Given the description of an element on the screen output the (x, y) to click on. 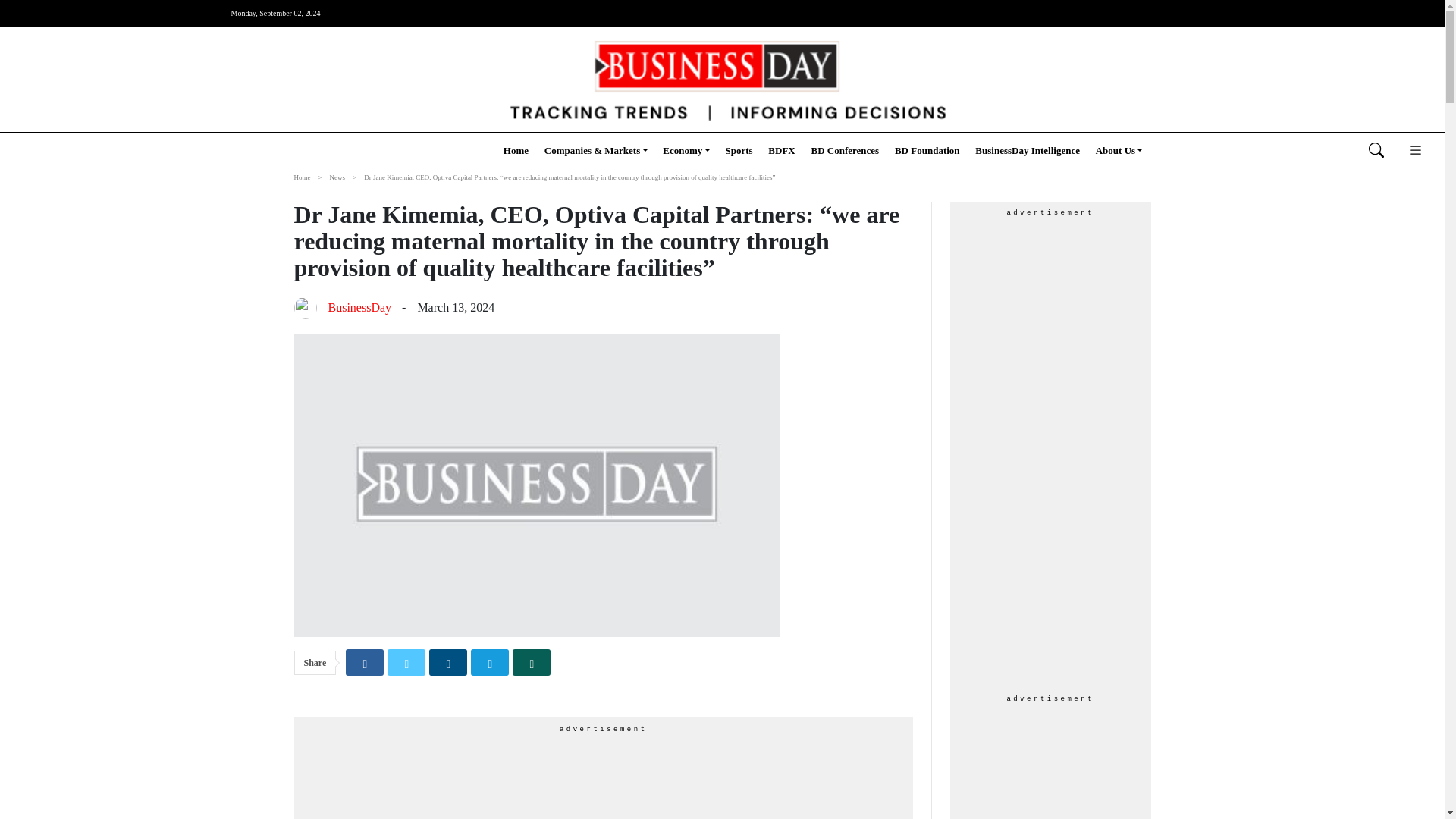
BD Foundation (927, 149)
BusinessDay Intelligence (1027, 149)
BD Conferences (844, 149)
Economy (685, 149)
BusinessDay Intelligence (1027, 149)
BD Foundation (927, 149)
About Us (1119, 149)
About Us (1119, 149)
BD Conferences (844, 149)
Economy (685, 149)
